Given the description of an element on the screen output the (x, y) to click on. 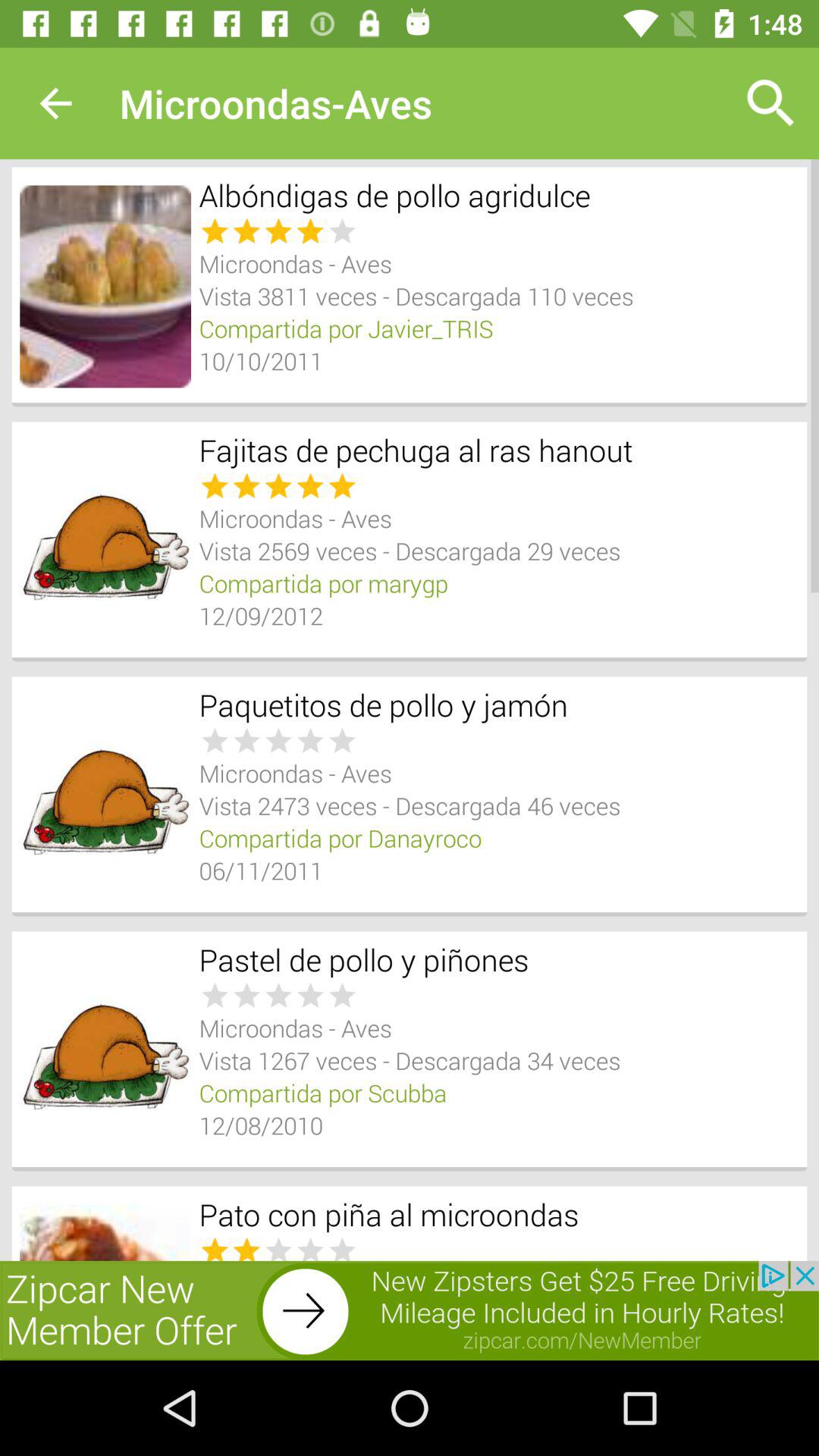
go to addverdisment (409, 1310)
